Given the description of an element on the screen output the (x, y) to click on. 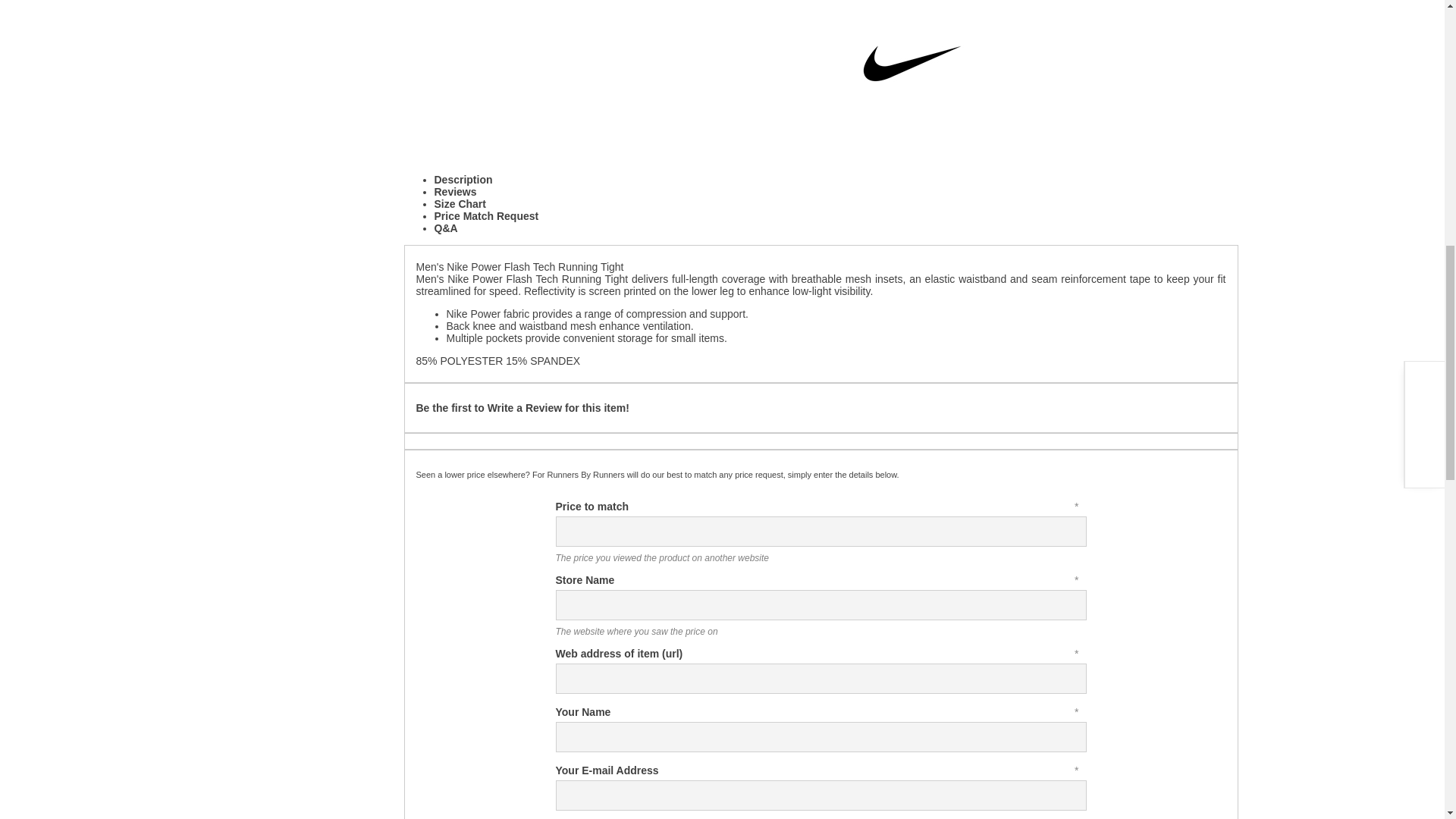
Reviews (454, 191)
Size Chart (458, 203)
Brands (285, 2)
Description (462, 179)
Price Match Request (485, 215)
Write a Review (524, 408)
